Given the description of an element on the screen output the (x, y) to click on. 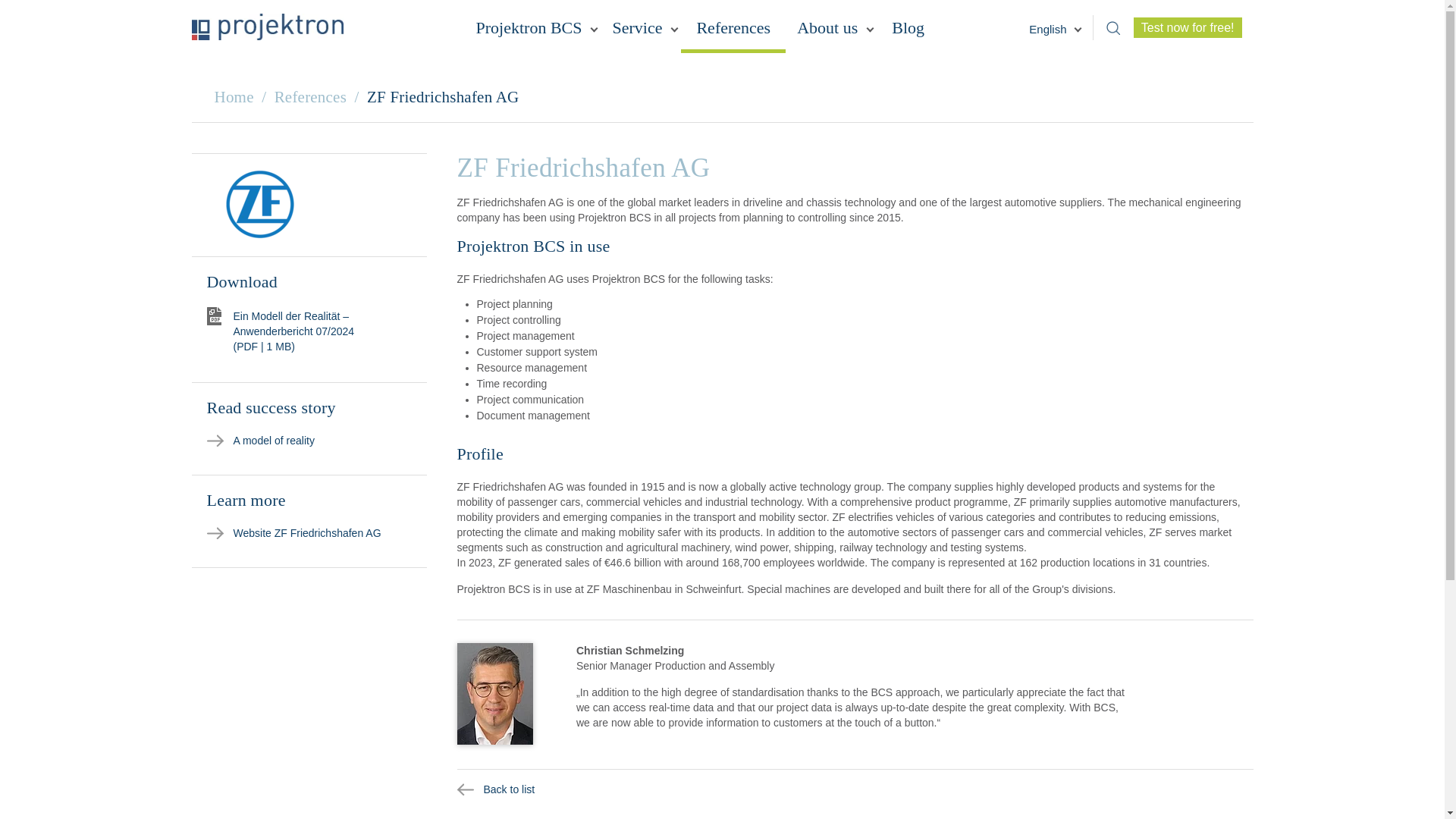
reference.citeperson (494, 693)
Projektron - Reduce costs. Meet deadlines. Achieve goals. (266, 26)
Test now for free! (1187, 26)
Projektron BCS (531, 31)
Search (1112, 27)
Search (1112, 27)
ZF Friedrichshafen AG (259, 203)
